Given the description of an element on the screen output the (x, y) to click on. 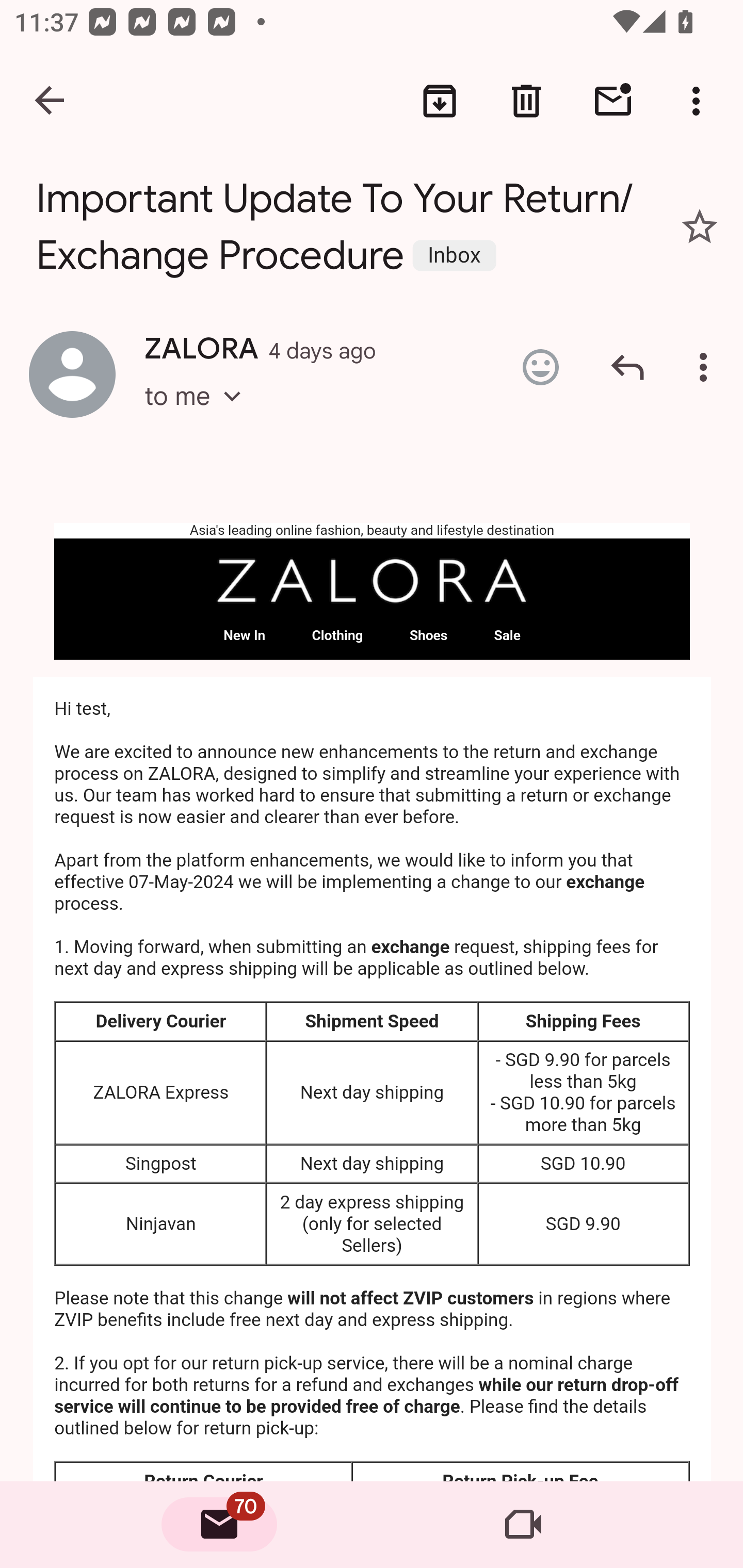
Navigate up (50, 101)
Archive (439, 101)
Delete (525, 101)
Mark unread (612, 101)
More options (699, 101)
Add star (699, 226)
Add emoji reaction (540, 367)
Reply (626, 367)
More options (706, 367)
Show contact information for ZALORA (71, 373)
to me (199, 414)
ZALORA (372, 580)
New In (244, 636)
Clothing (337, 636)
Shoes (428, 636)
Sale (506, 636)
Meet (523, 1524)
